Given the description of an element on the screen output the (x, y) to click on. 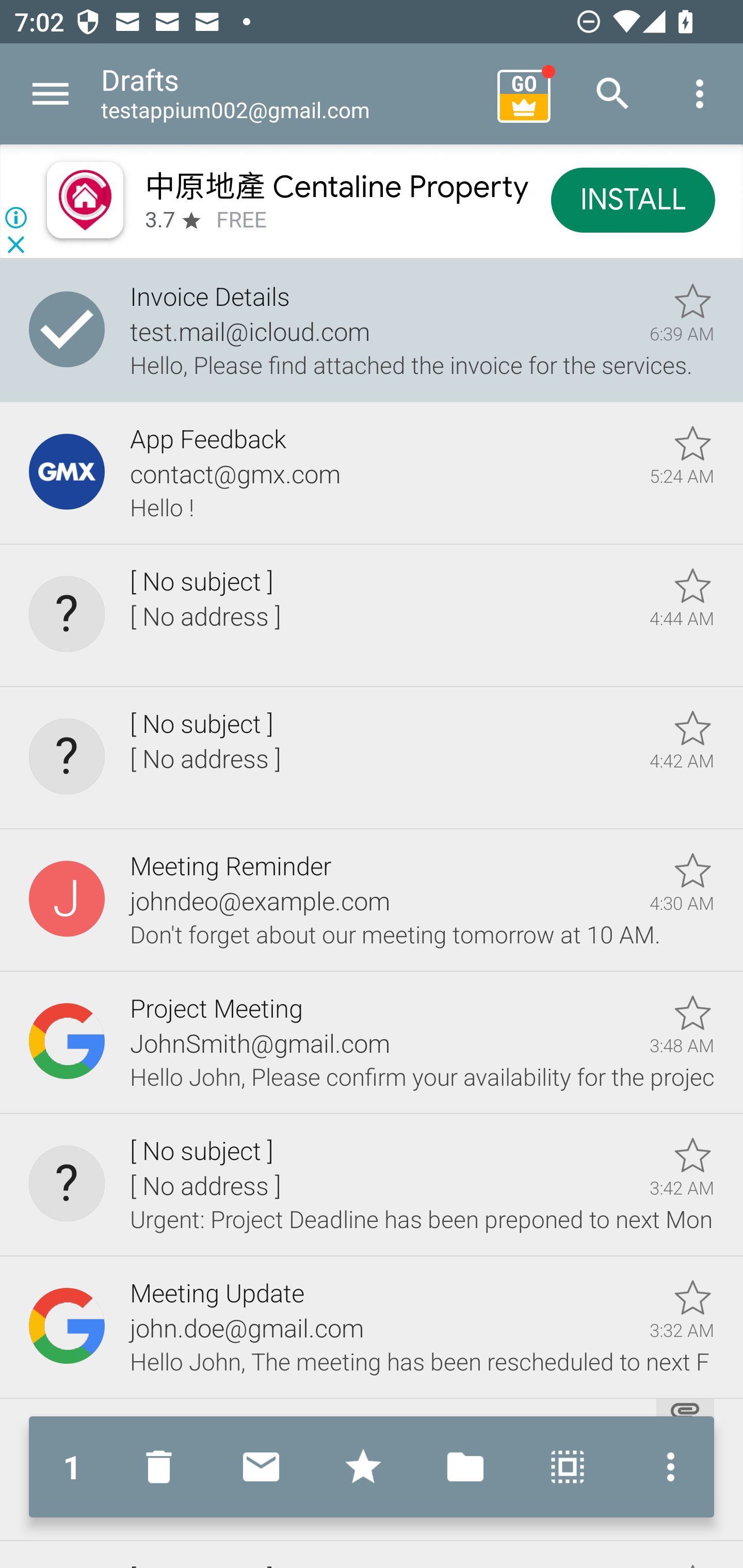
Navigate up (50, 93)
Drafts testappium002@gmail.com (291, 93)
Search (612, 93)
More options (699, 93)
中原地產 Centaline Property (335, 185)
INSTALL (632, 199)
3.7 (158, 220)
FREE (241, 220)
App Feedback, contact@gmx.com, 5:24 AM, Hello ! (371, 473)
[ No subject ], [ No address ], 4:44 AM (371, 615)
[ No subject ], [ No address ], 4:42 AM (371, 757)
1 1 message (71, 1466)
Move to Deleted (162, 1466)
Mark unread (261, 1466)
Mark with stars (363, 1466)
Move to folder… (465, 1466)
Select all (567, 1466)
More options (666, 1466)
